Given the description of an element on the screen output the (x, y) to click on. 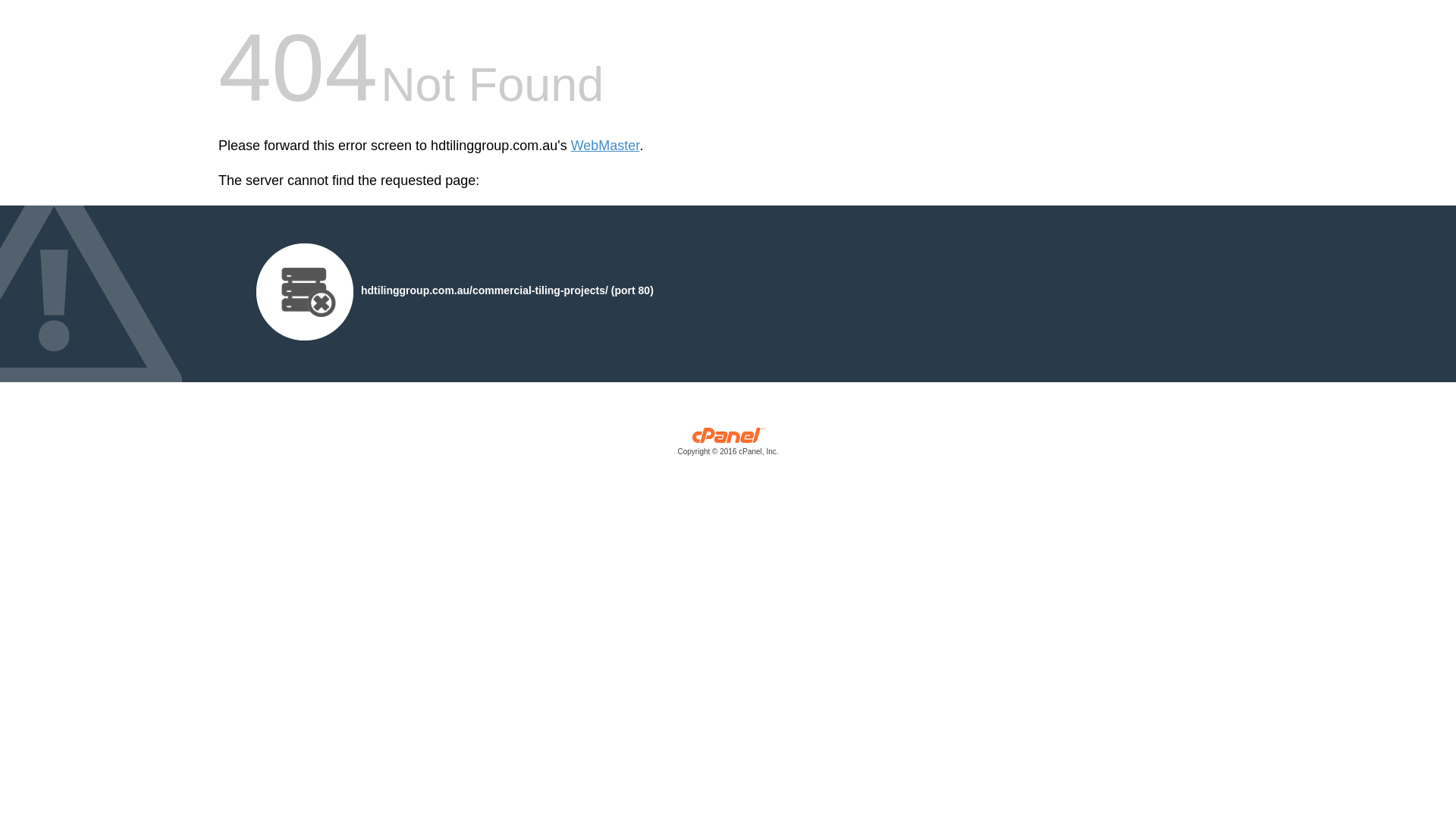
WebMaster Element type: text (605, 145)
